Given the description of an element on the screen output the (x, y) to click on. 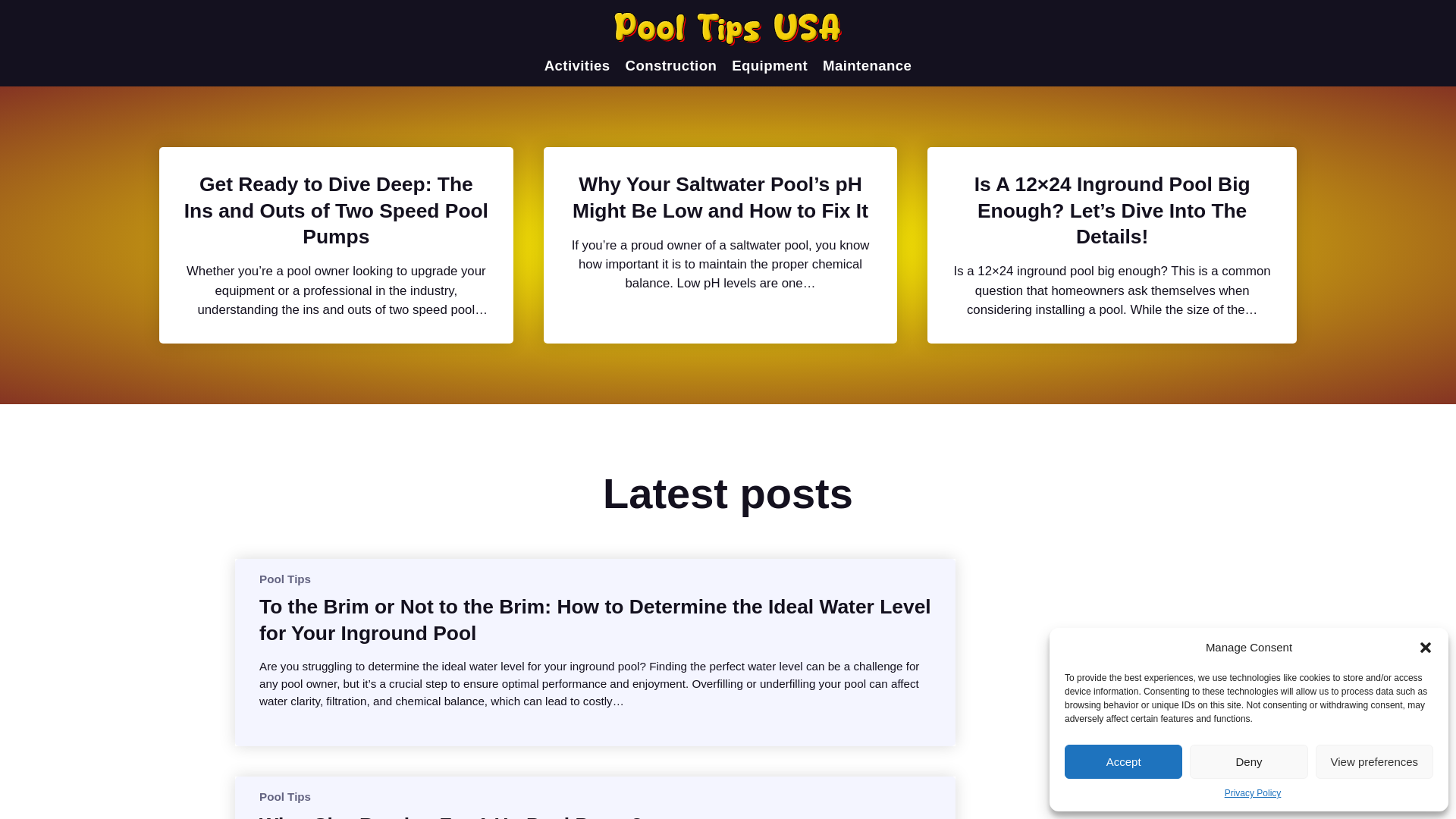
What Size Breaker For 1 Hp Pool Pump? (451, 815)
Equipment (770, 65)
Pool Tips (285, 796)
Maintenance (866, 65)
Privacy Policy (1252, 793)
Activities (577, 65)
Construction (671, 65)
View preferences (1374, 761)
Accept (1123, 761)
Pool Tips (285, 577)
Deny (1248, 761)
